Given the description of an element on the screen output the (x, y) to click on. 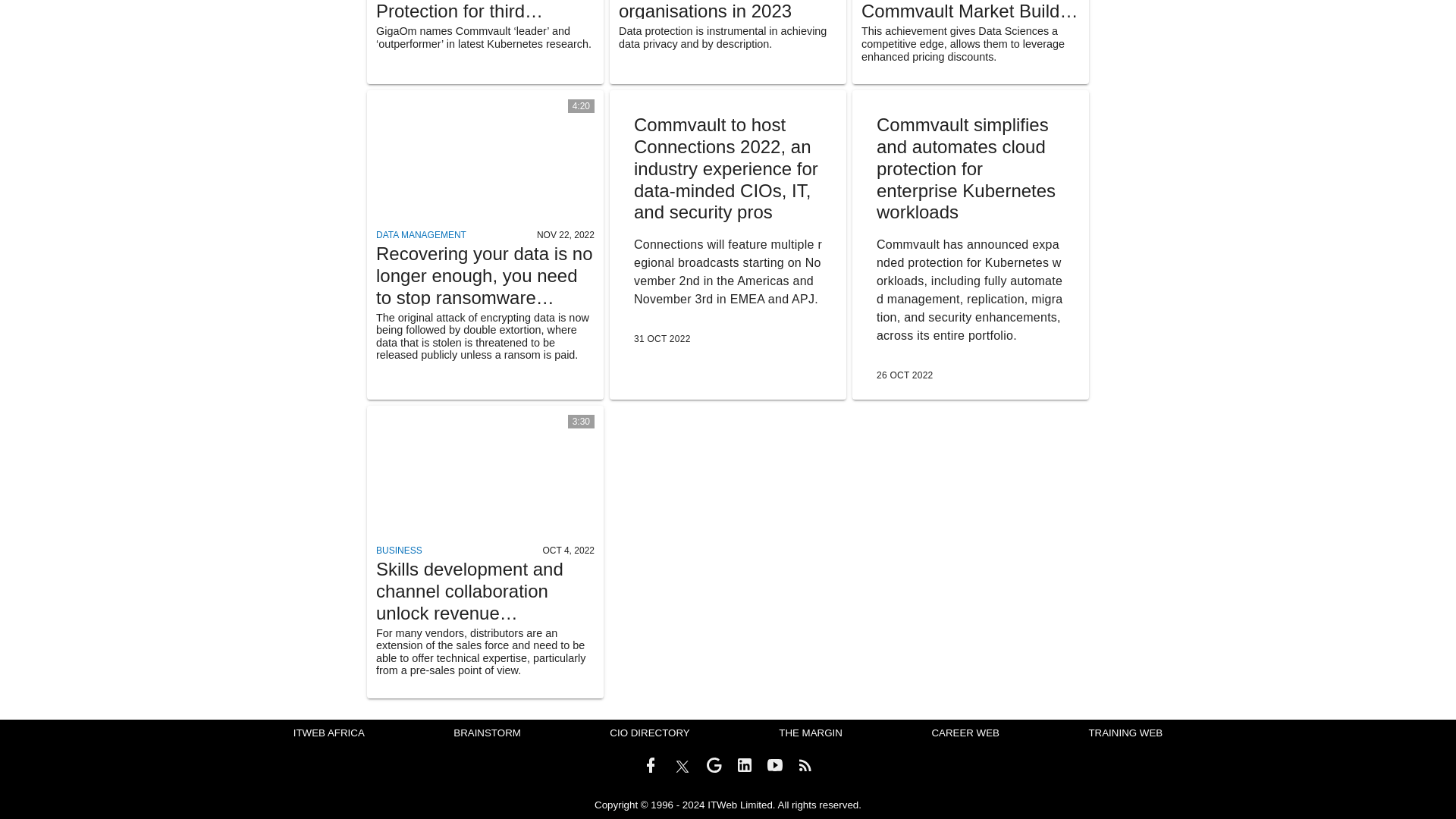
Youtube play icon (774, 764)
Linkedin icon (744, 764)
RSS icon (804, 764)
Google icon (713, 764)
Facebook icon (650, 764)
